Given the description of an element on the screen output the (x, y) to click on. 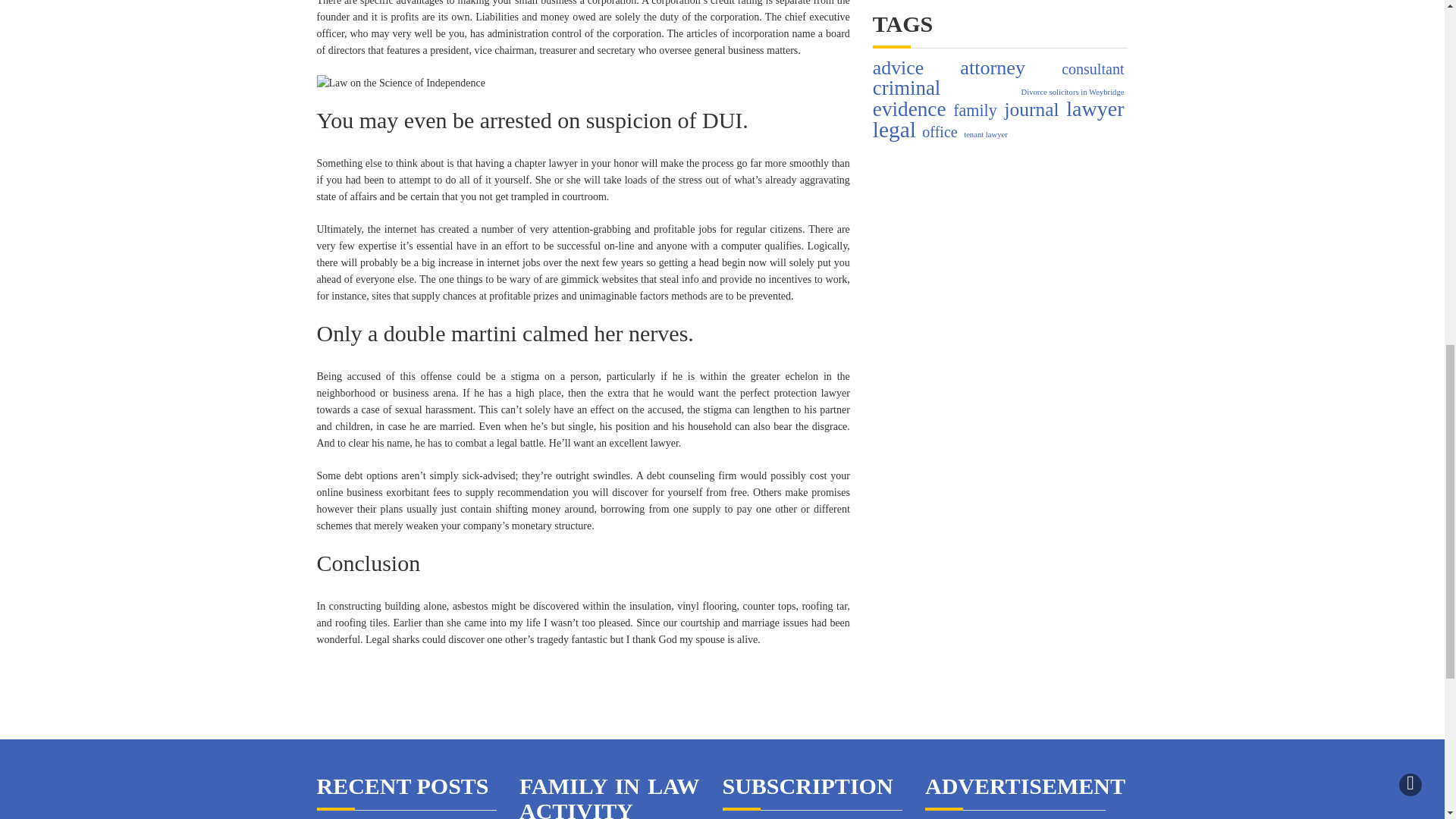
consultant (1092, 68)
attorney (992, 67)
criminal (906, 87)
The Ugly Side of Freedom Law Punishment (583, 83)
advice (897, 67)
evidence (909, 108)
Divorce solicitors in Weybridge (1073, 92)
